Given the description of an element on the screen output the (x, y) to click on. 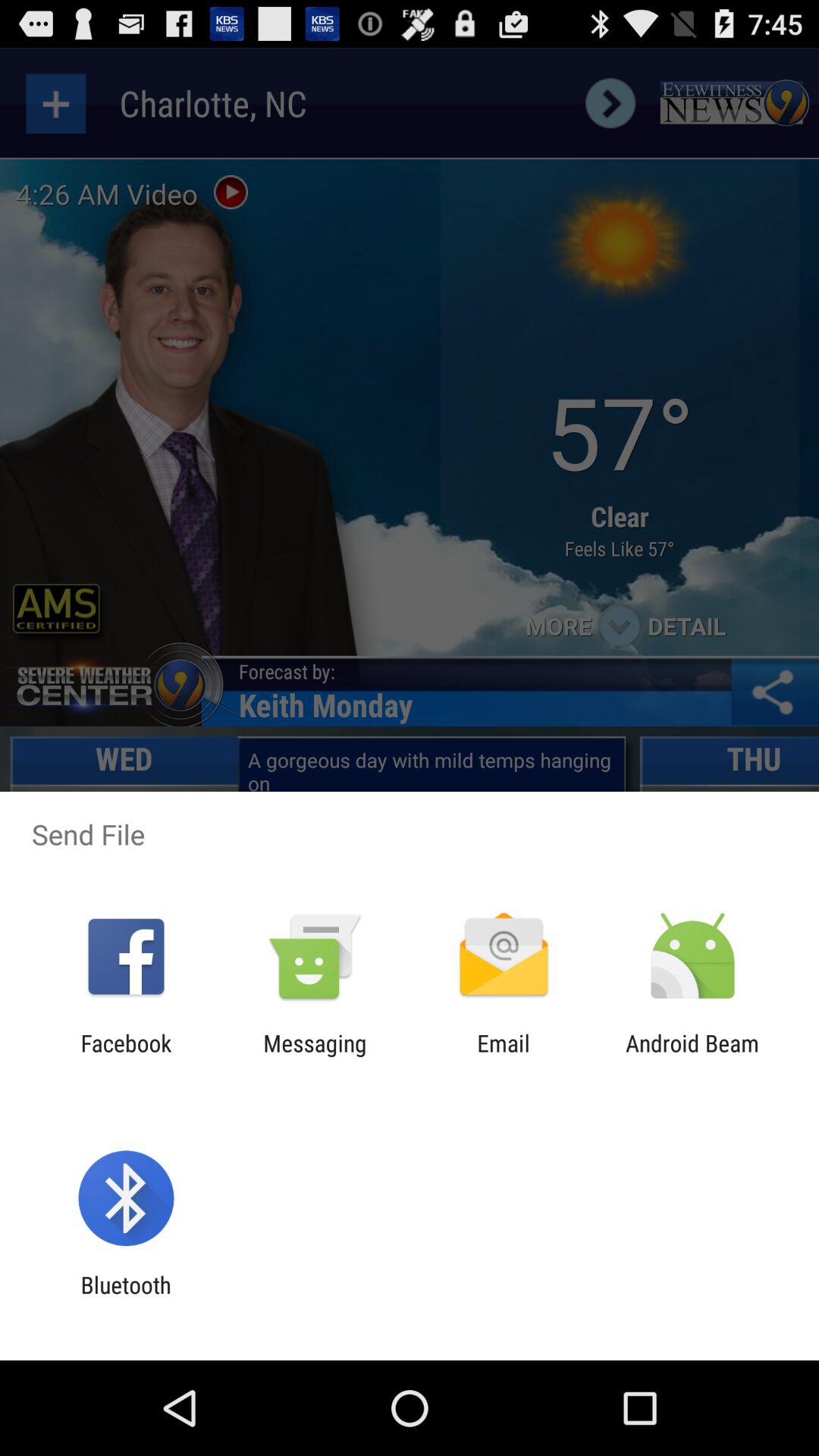
swipe to the email (503, 1056)
